Given the description of an element on the screen output the (x, y) to click on. 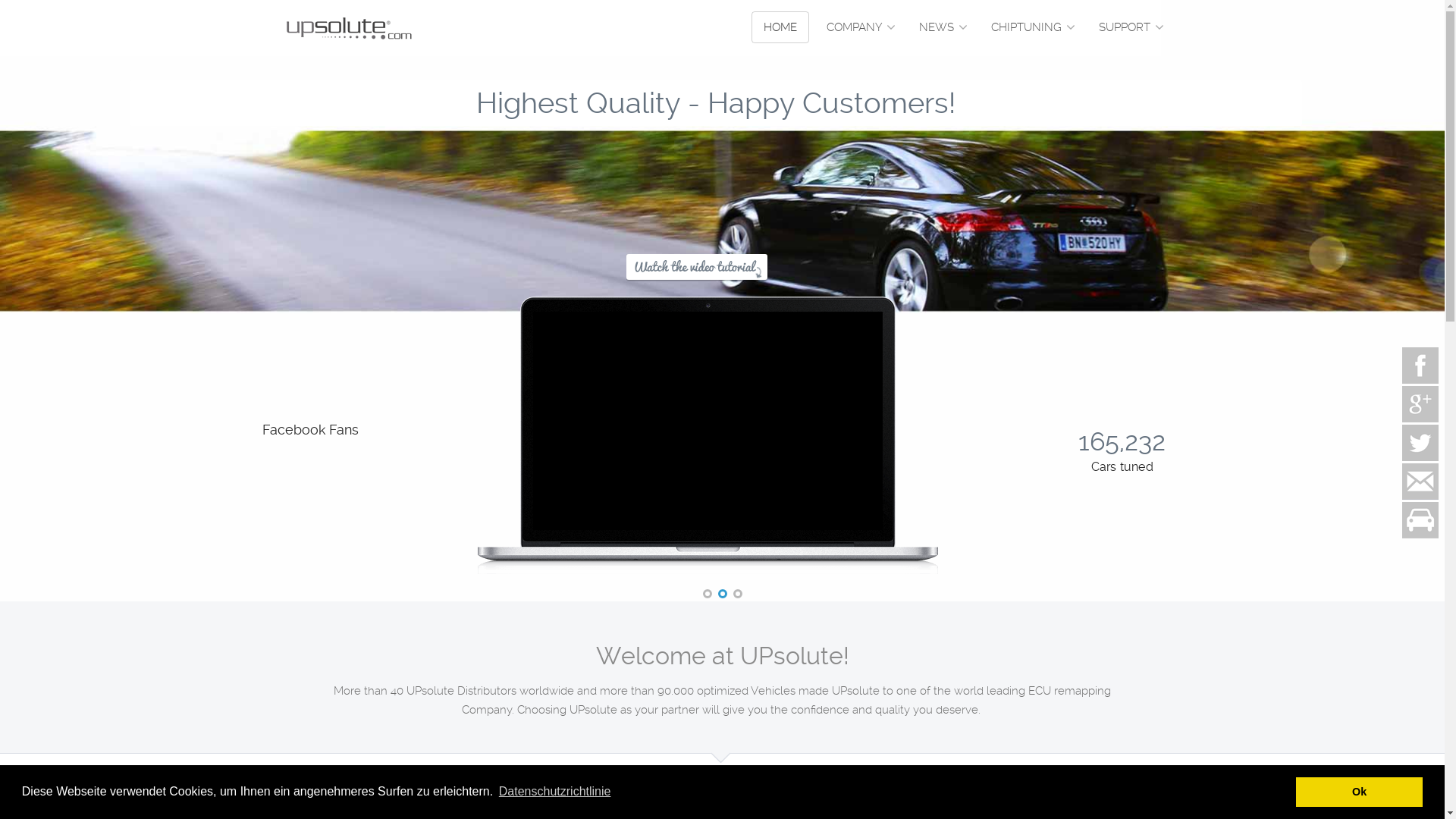
NEWS Element type: text (939, 27)
Ok Element type: text (1358, 791)
CHIPTUNING Element type: text (1029, 27)
SUPPORT Element type: text (1127, 27)
HOME Element type: text (779, 27)
Twitter Element type: hover (1419, 442)
Google+ Element type: hover (1419, 403)
Datenschutzrichtlinie Element type: text (554, 791)
COMPANY Element type: text (857, 27)
Contact us Element type: hover (1419, 481)
Facebook page Element type: hover (1419, 365)
